Given the description of an element on the screen output the (x, y) to click on. 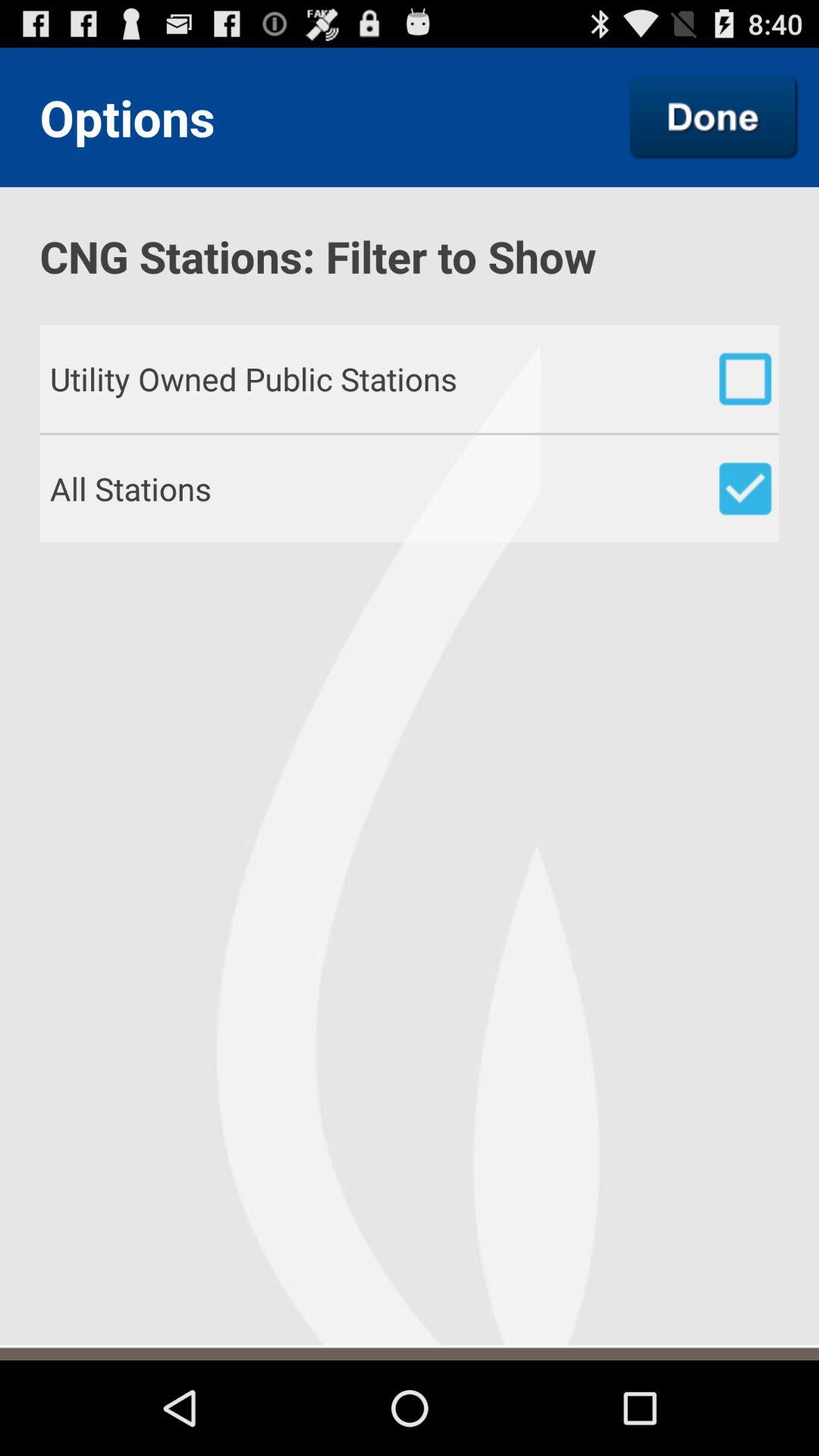
open the item to the right of the options (714, 117)
